Given the description of an element on the screen output the (x, y) to click on. 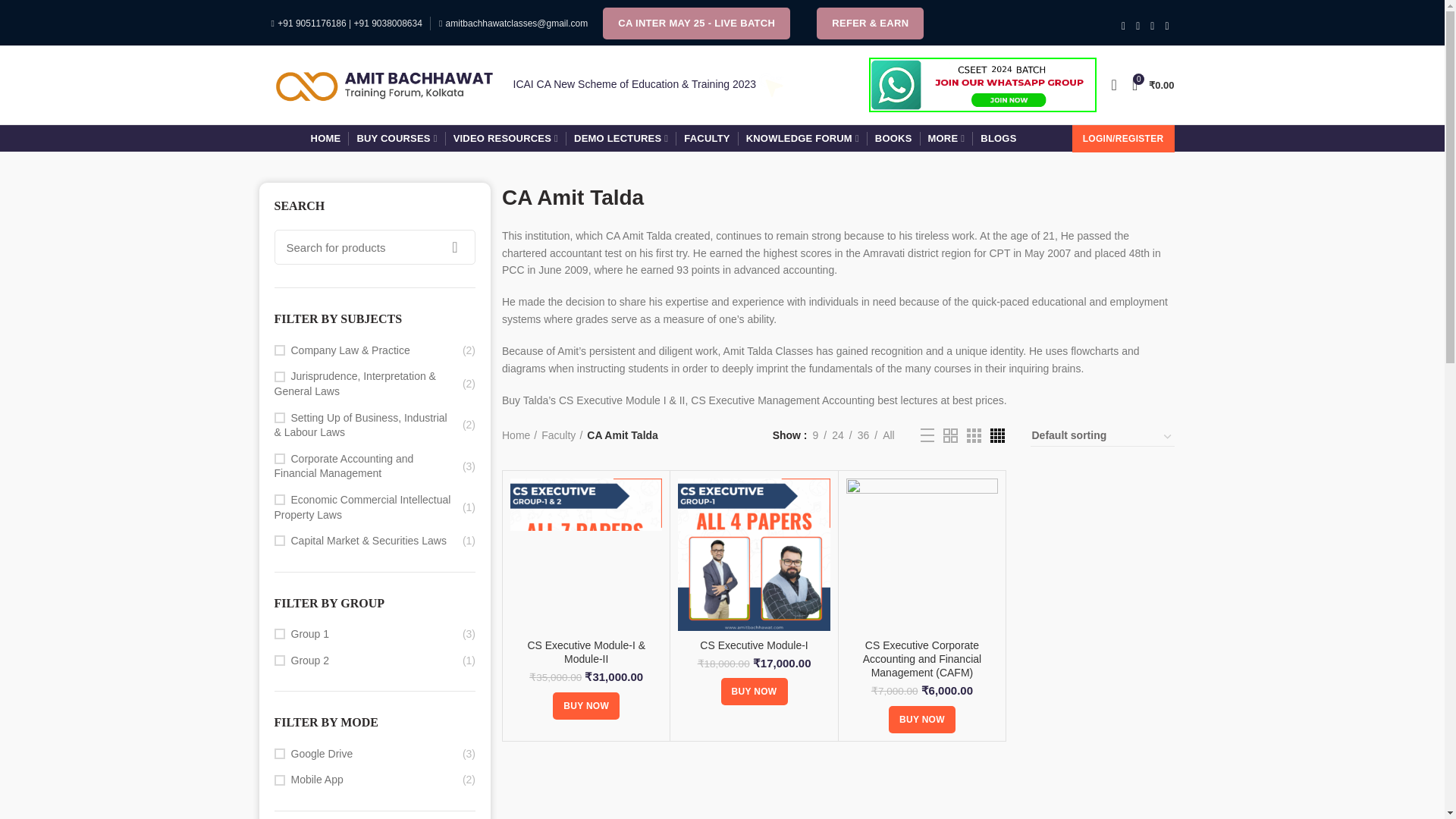
VIDEO RESOURCES (505, 138)
BUY COURSES (396, 138)
CA INTER MAY 25 - LIVE BATCH (696, 23)
DEMO LECTURES (620, 138)
HOME (325, 138)
